Given the description of an element on the screen output the (x, y) to click on. 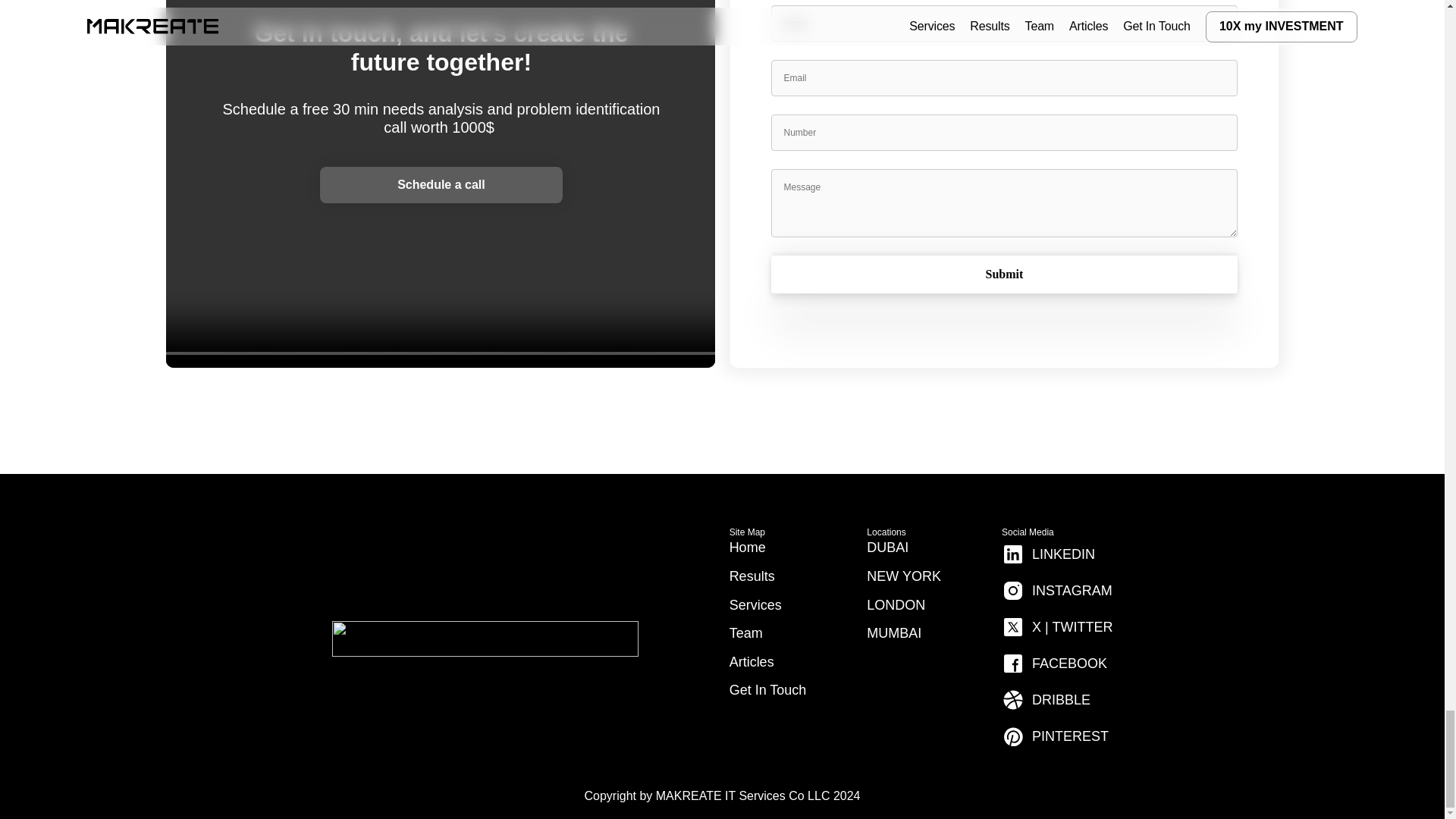
Submit (1003, 274)
Get In Touch (767, 689)
Schedule a call (441, 185)
Team (745, 632)
FACEBOOK (1053, 663)
Articles (751, 661)
Services (755, 604)
PINTEREST (1054, 736)
Submit (1003, 274)
Results (751, 575)
INSTAGRAM (1056, 590)
Home (747, 547)
DRIBBLE (1045, 699)
LINKEDIN (1047, 553)
